Given the description of an element on the screen output the (x, y) to click on. 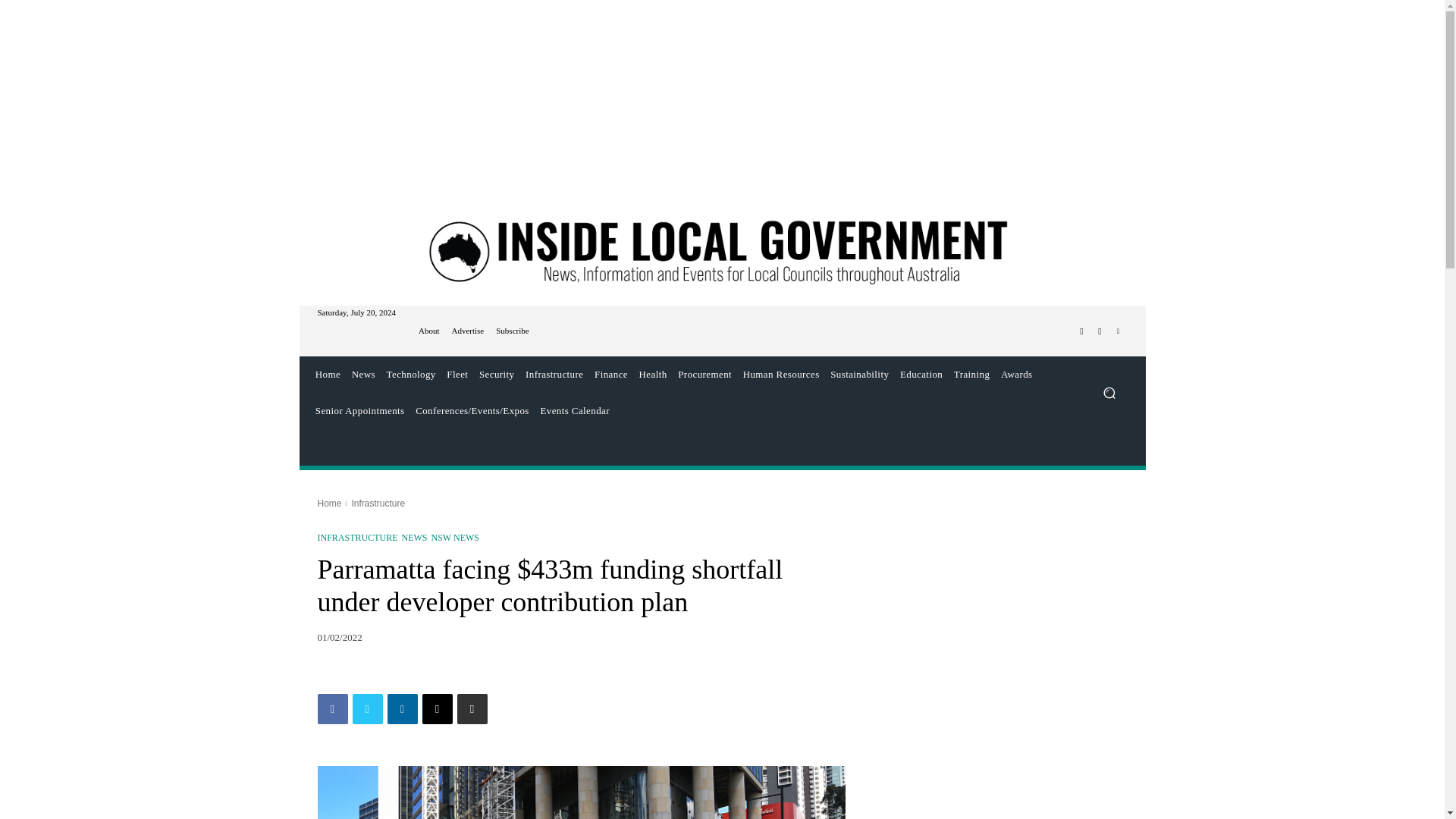
Facebook (1080, 331)
Home (327, 374)
News (363, 374)
Facebook (332, 708)
Print (471, 708)
Advertise (467, 330)
Subscribe (512, 330)
Twitter (1099, 331)
About (429, 330)
Email (436, 708)
View all posts in Infrastructure (377, 502)
Linkedin (401, 708)
Linkedin (1117, 331)
Twitter (366, 708)
